Given the description of an element on the screen output the (x, y) to click on. 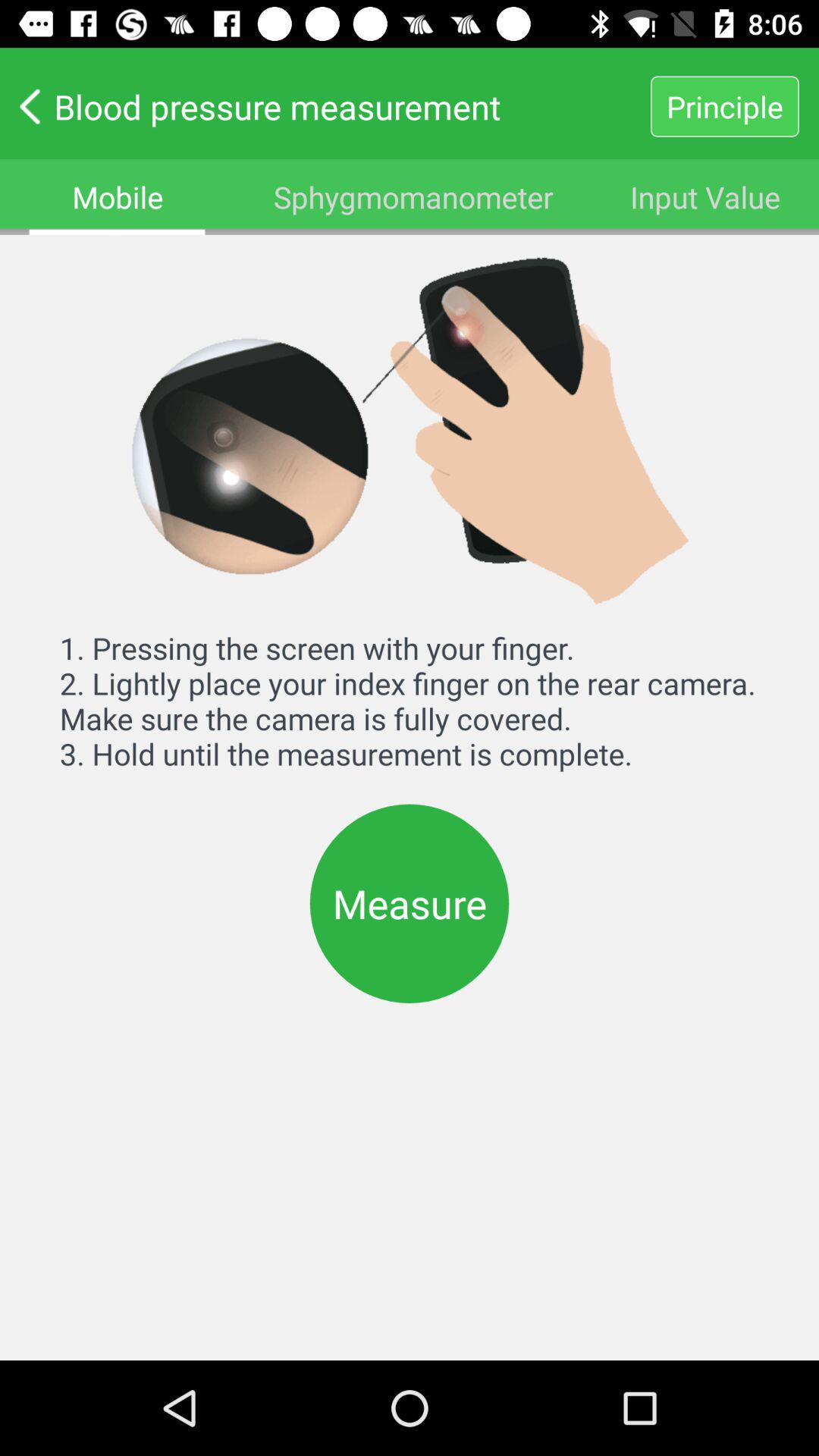
open icon to the right of the sphygmomanometer icon (705, 196)
